Given the description of an element on the screen output the (x, y) to click on. 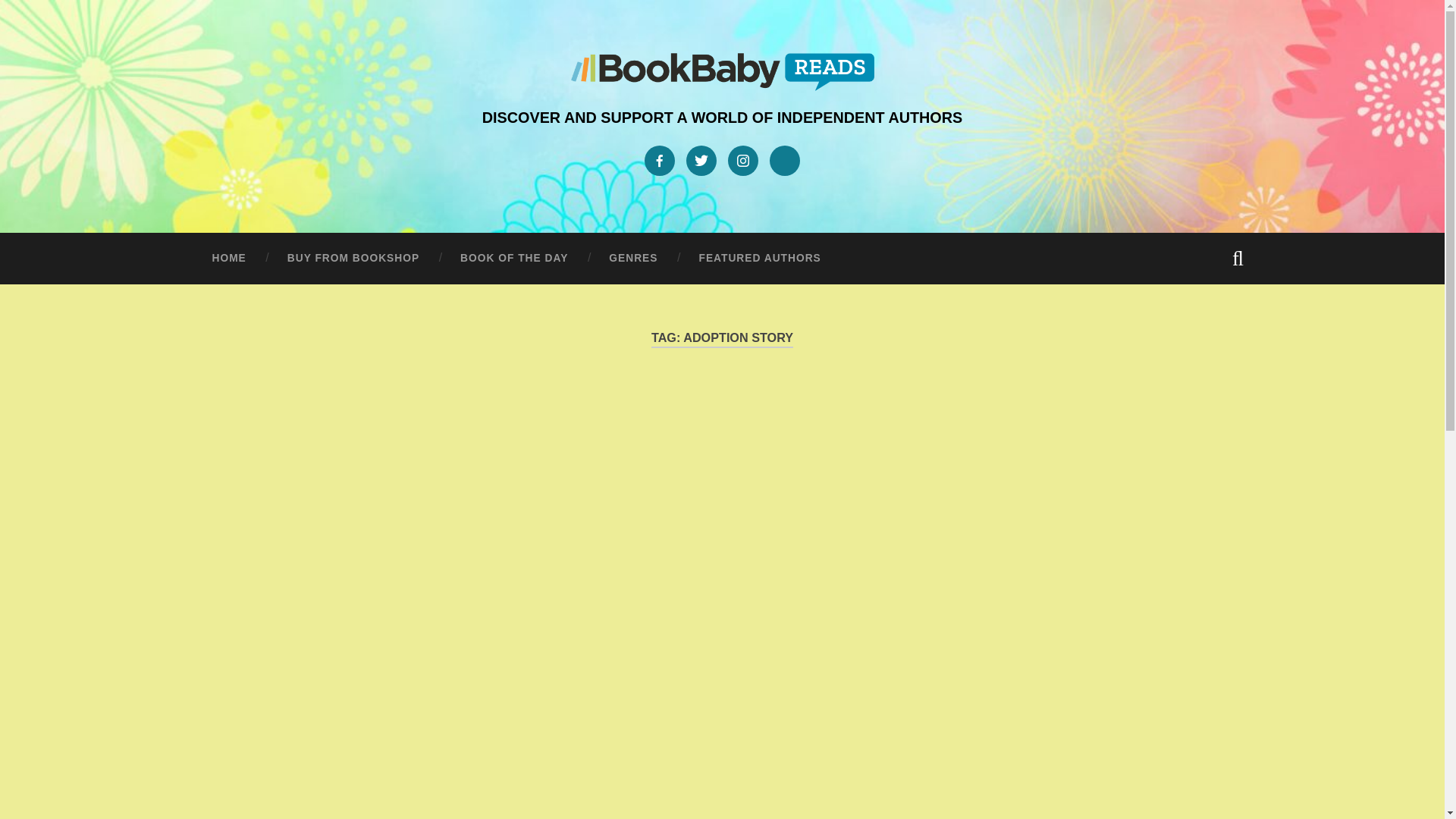
BOOK OF THE DAY (513, 258)
BUY FROM BOOKSHOP (352, 258)
GENRES (633, 258)
HOME (228, 258)
FEATURED AUTHORS (759, 258)
